Given the description of an element on the screen output the (x, y) to click on. 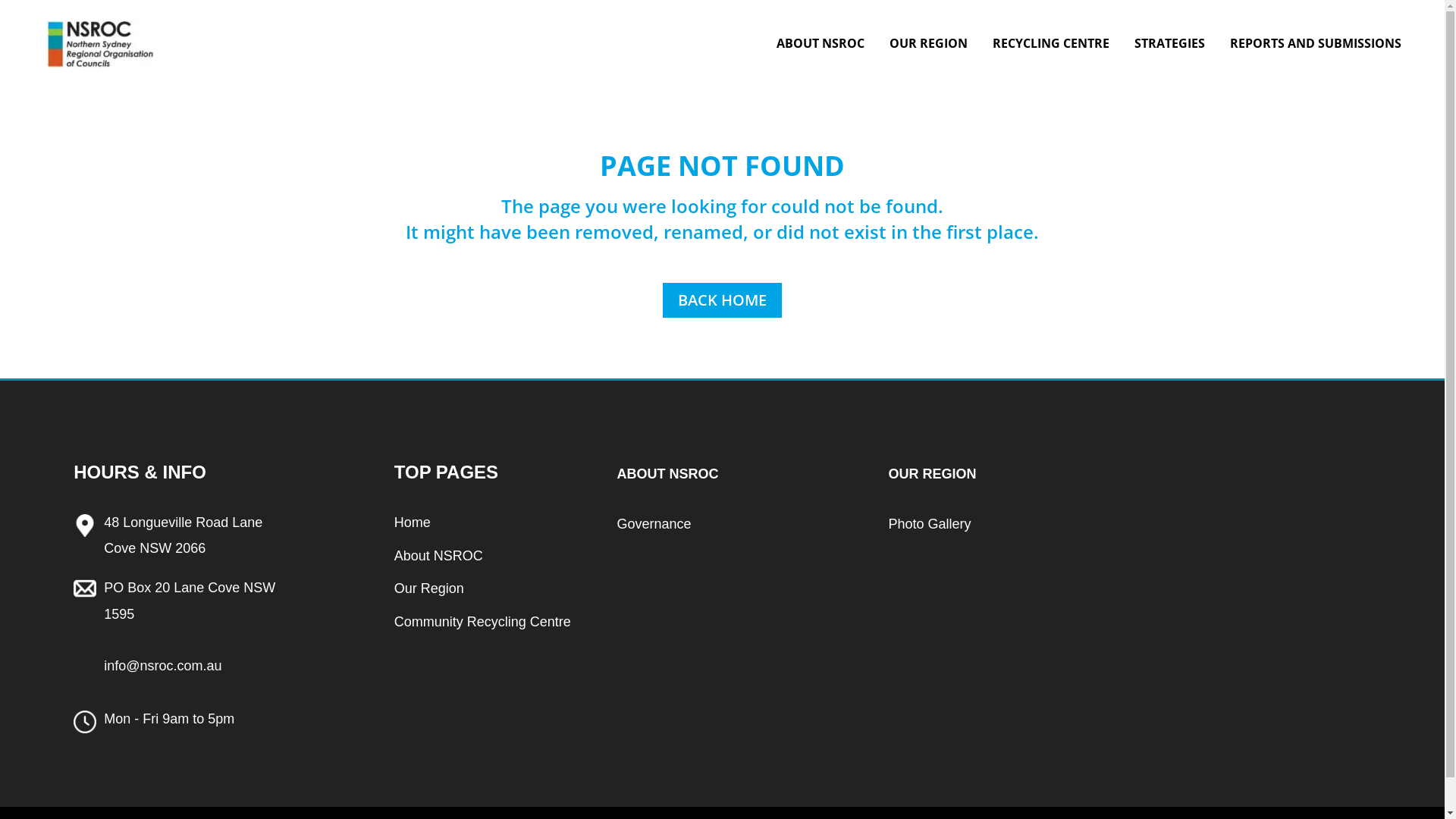
Our Region Element type: text (429, 588)
About NSROC Element type: text (438, 555)
RECYCLING CENTRE Element type: text (1050, 55)
STRATEGIES Element type: text (1169, 55)
OUR REGION Element type: text (932, 473)
ABOUT NSROC Element type: text (667, 473)
Photo Gallery Element type: text (929, 523)
OUR REGION Element type: text (928, 55)
Community Recycling Centre Element type: text (482, 621)
BACK HOME Element type: text (721, 299)
Governance Element type: text (653, 523)
Home Element type: text (412, 522)
REPORTS AND SUBMISSIONS Element type: text (1315, 55)
ABOUT NSROC Element type: text (820, 55)
